Given the description of an element on the screen output the (x, y) to click on. 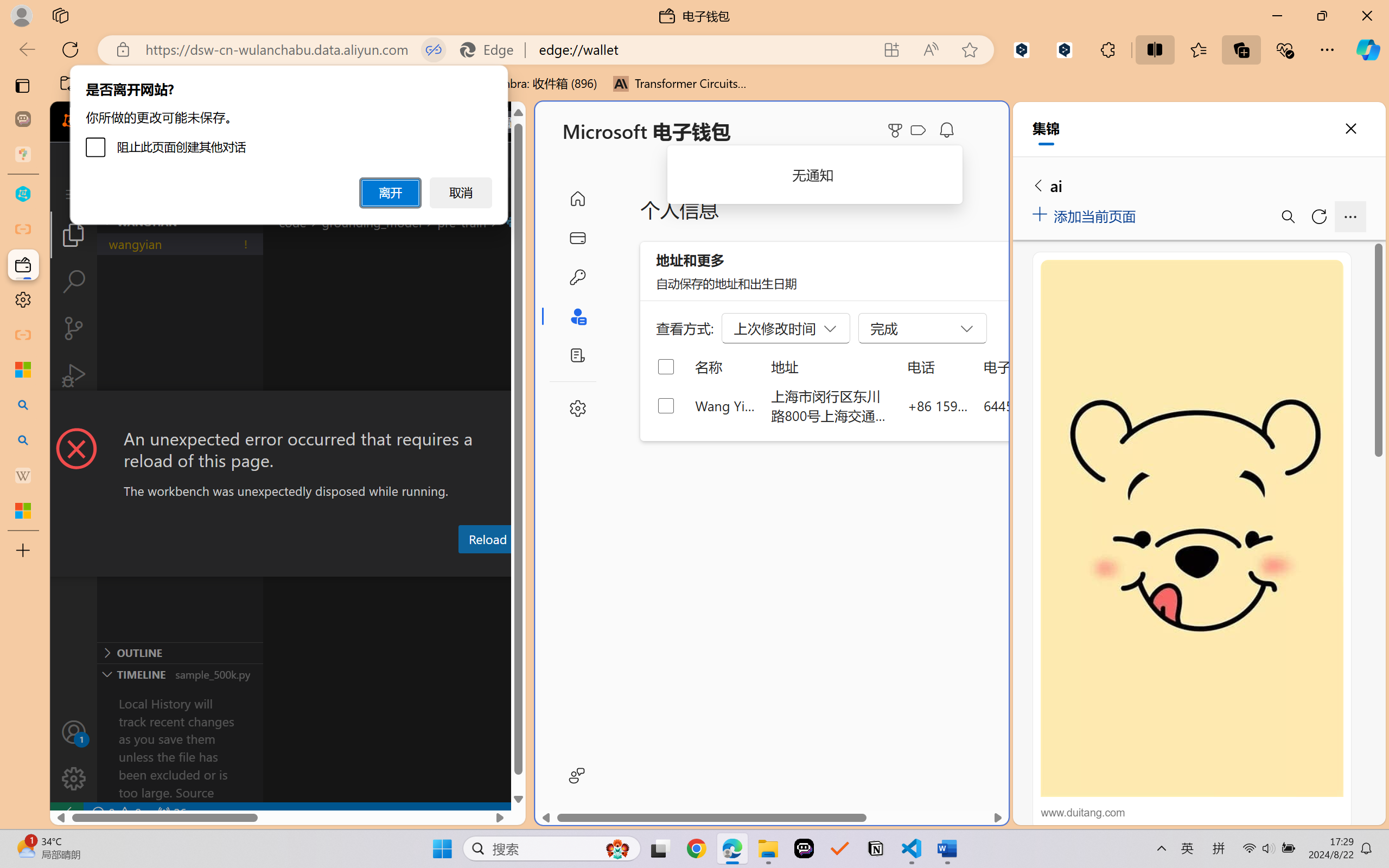
+86 159 0032 4640 (938, 405)
Microsoft Rewards (896, 129)
